Given the description of an element on the screen output the (x, y) to click on. 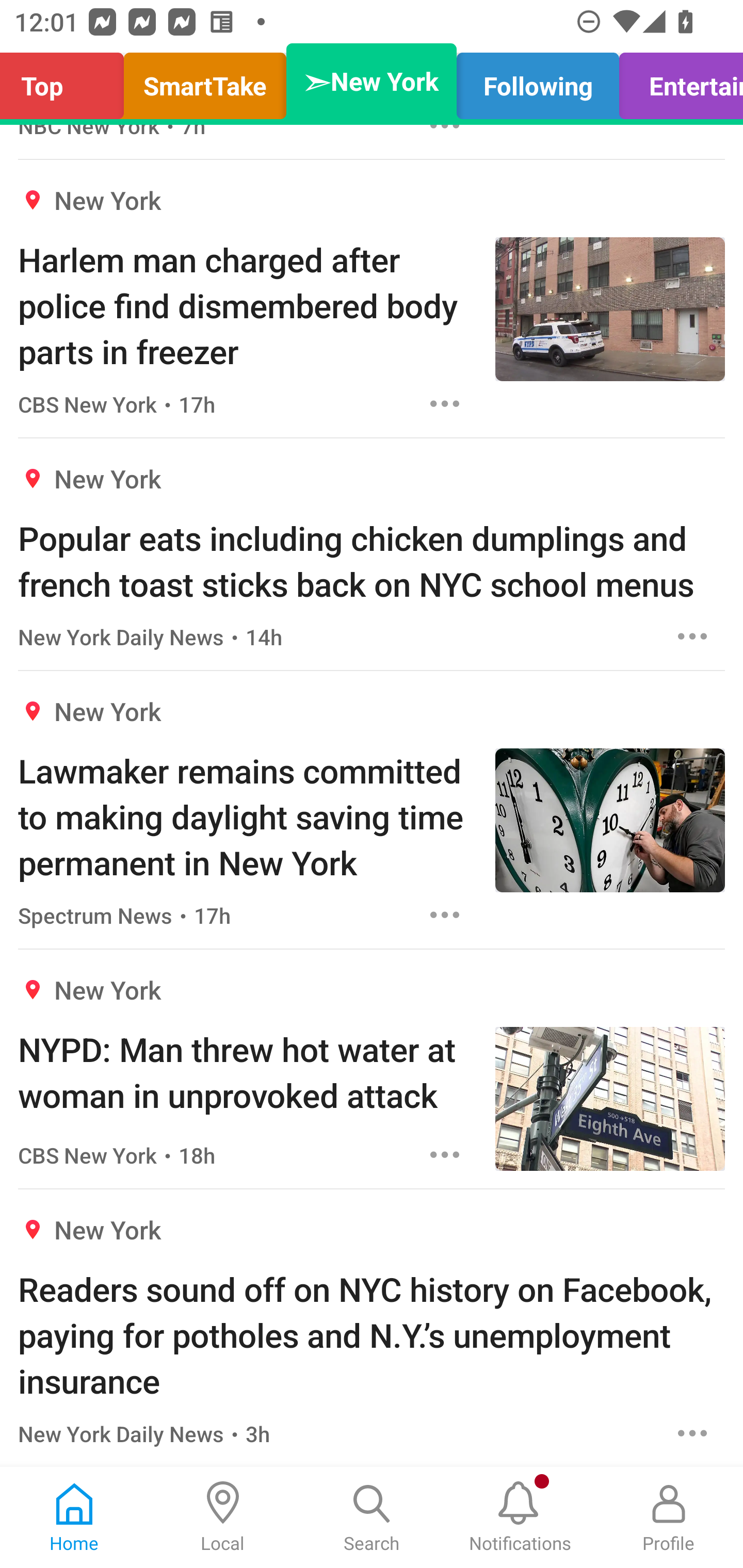
Top (67, 81)
SmartTake (204, 81)
➣New York (371, 81)
Following (537, 81)
Options (444, 403)
Options (692, 636)
Options (444, 914)
Options (444, 1154)
Options (692, 1433)
Local (222, 1517)
Search (371, 1517)
Notifications, New notification Notifications (519, 1517)
Profile (668, 1517)
